Given the description of an element on the screen output the (x, y) to click on. 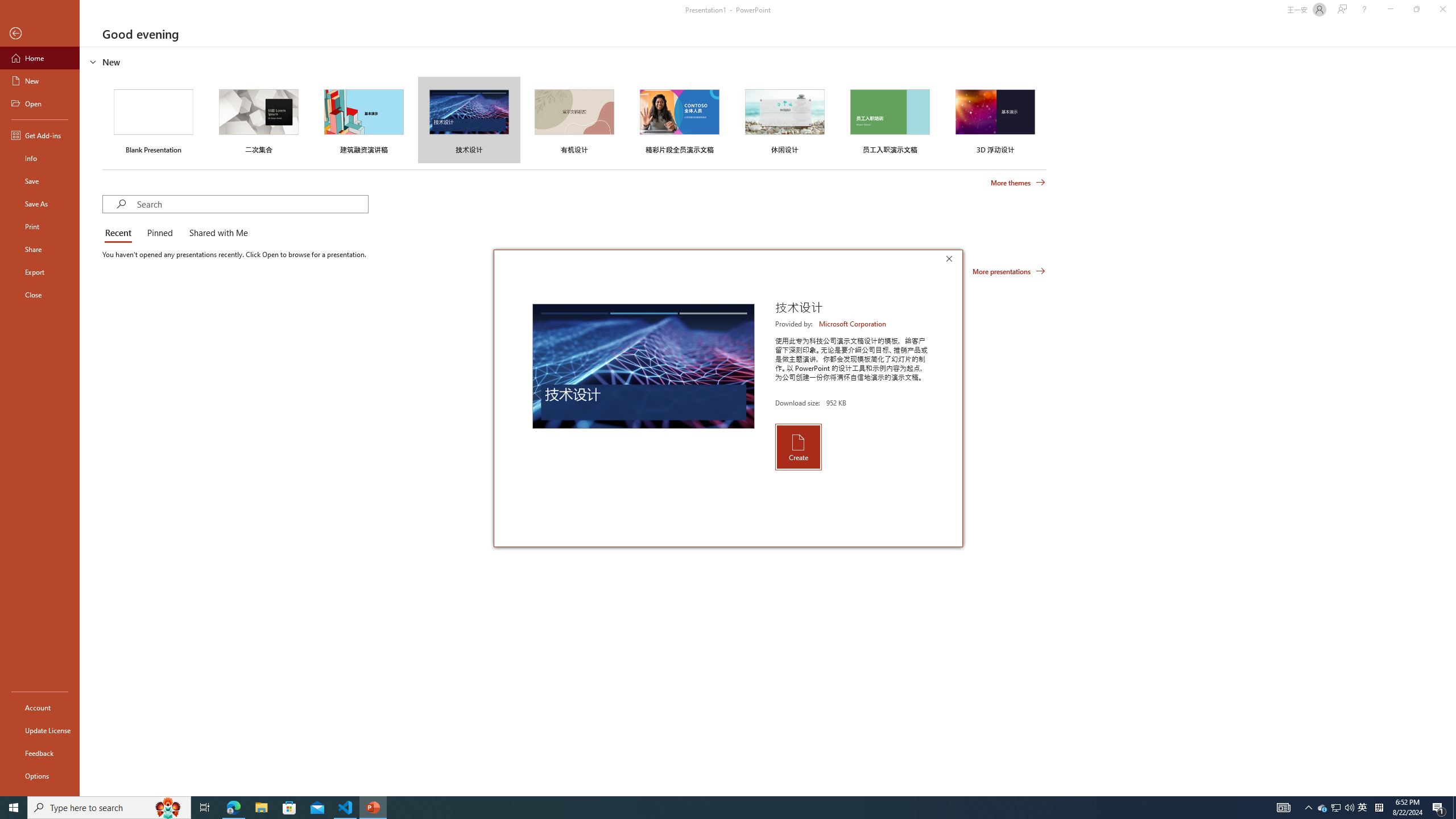
Get Add-ins (40, 134)
Feedback (40, 753)
Save As (40, 203)
Update License (40, 730)
Account (40, 707)
Print (40, 225)
Action Center, 1 new notification (1439, 807)
